Given the description of an element on the screen output the (x, y) to click on. 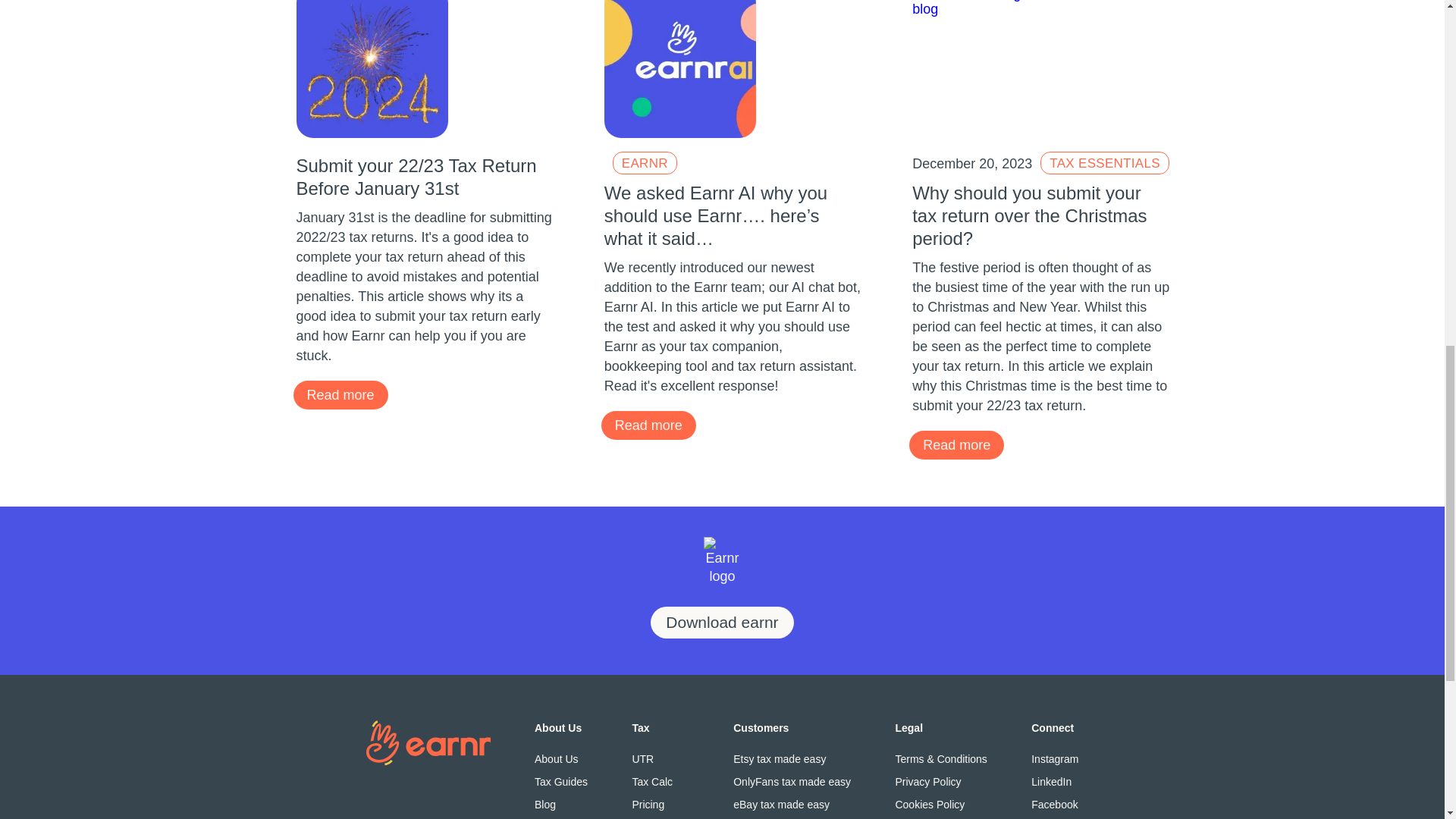
About Us (561, 758)
Read more (956, 444)
Blog (561, 804)
TAX ESSENTIALS (1105, 162)
EARNR (644, 162)
Tax Guides (561, 781)
UTR (659, 758)
Download earnr (721, 622)
Pricing (659, 804)
Tax Calc (659, 781)
Read more (339, 394)
Read more (648, 425)
